Given the description of an element on the screen output the (x, y) to click on. 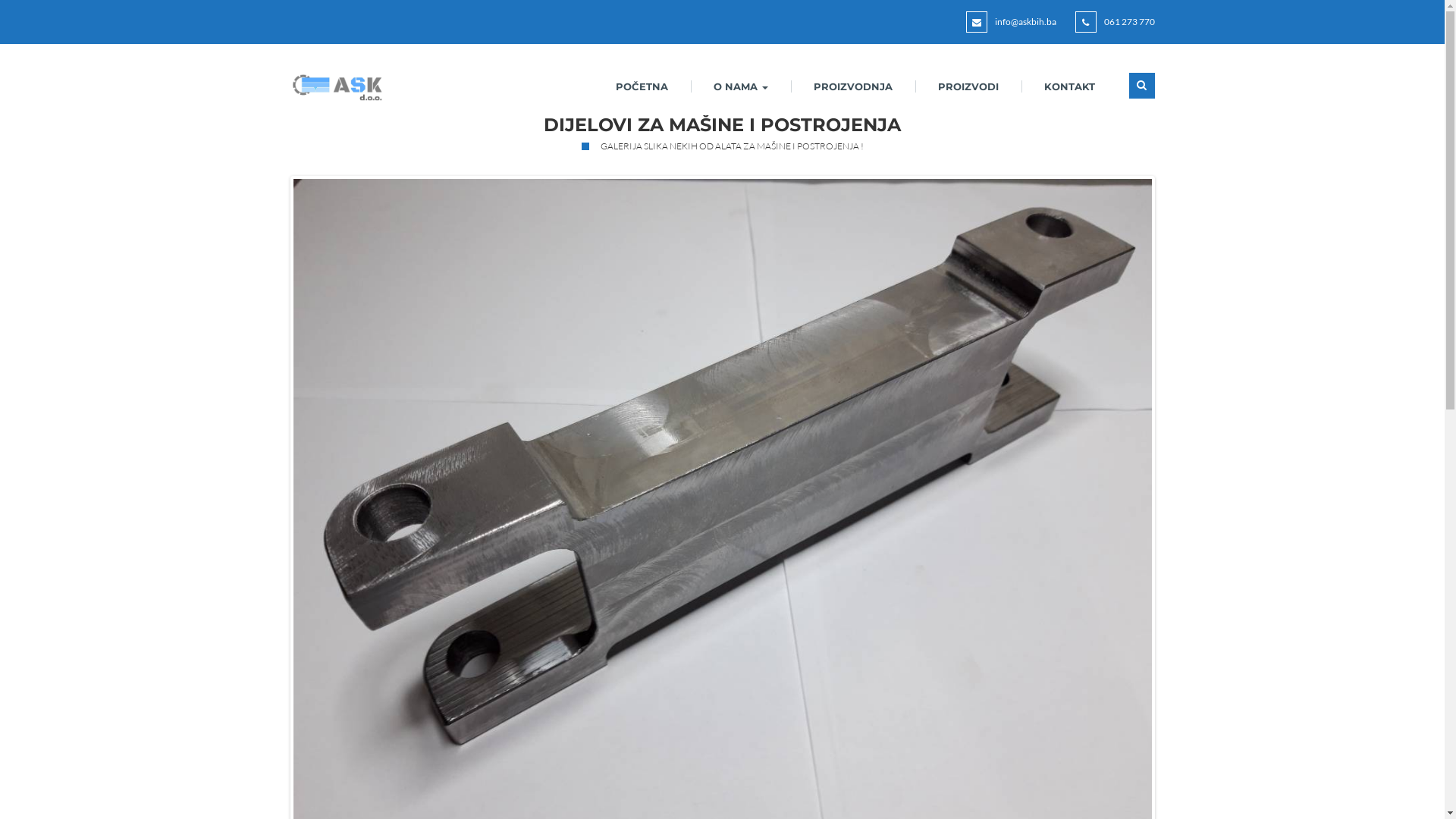
www.askbih.ba Element type: hover (332, 85)
info@askbih.ba Element type: text (1025, 21)
O NAMA Element type: text (740, 93)
KONTAKT Element type: text (1068, 93)
PROIZVODI Element type: text (967, 93)
PROIZVODNJA Element type: text (852, 93)
